Given the description of an element on the screen output the (x, y) to click on. 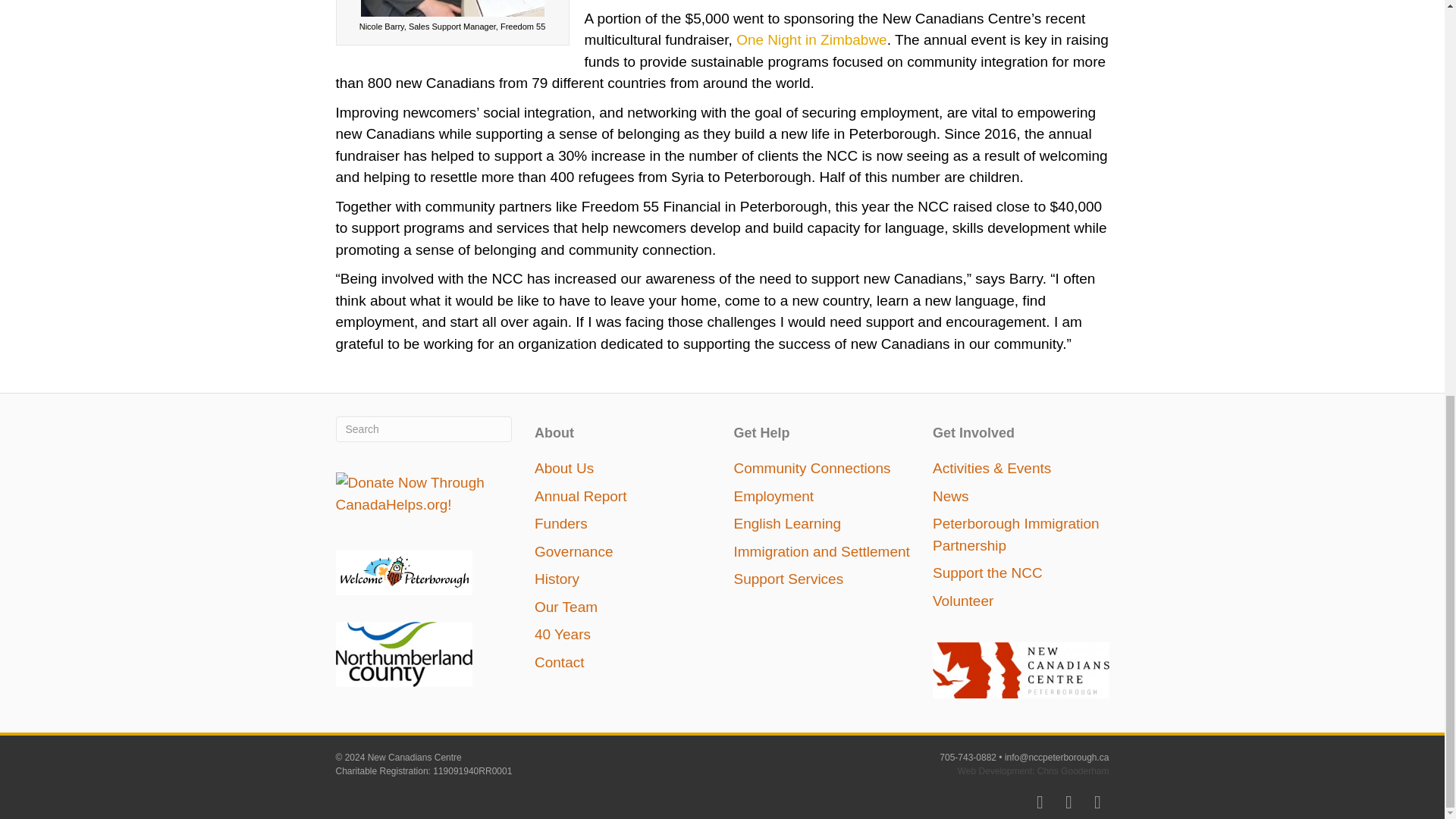
Type and press Enter to search. (423, 429)
